Given the description of an element on the screen output the (x, y) to click on. 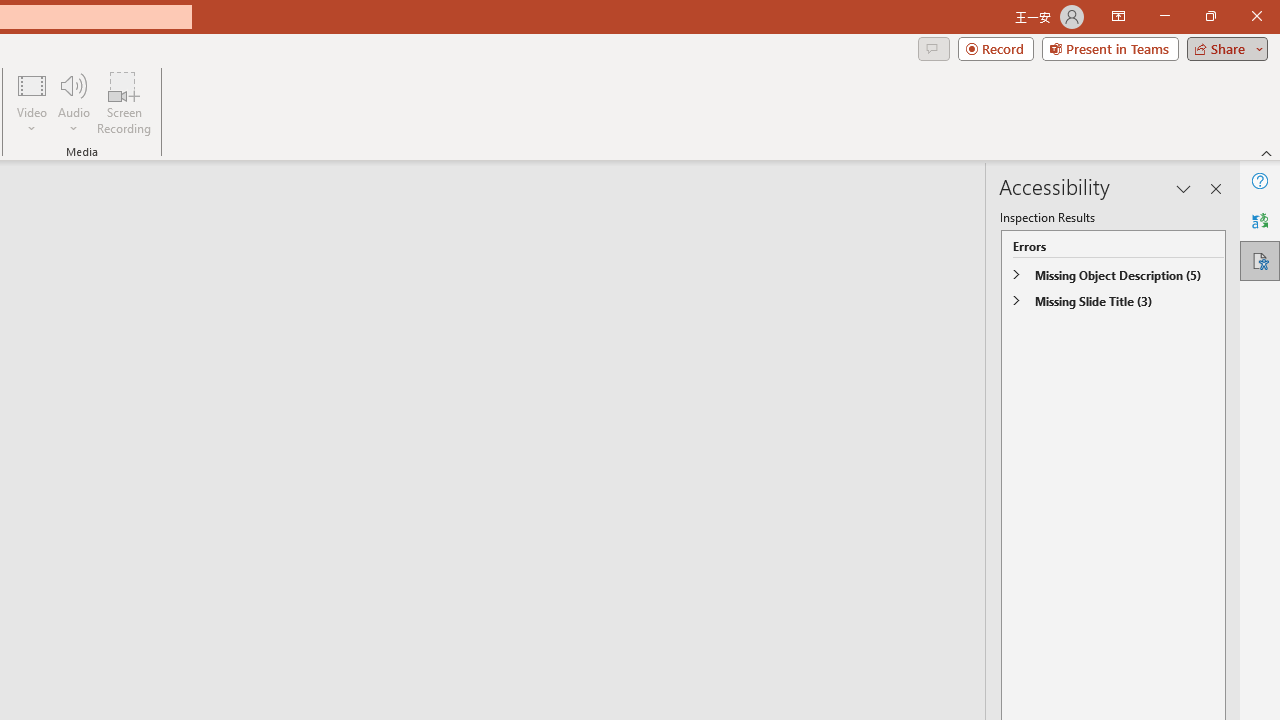
Close pane (1215, 188)
Close (1256, 16)
Present in Teams (1109, 48)
Help (1260, 180)
Video (31, 102)
Collapse the Ribbon (1267, 152)
Screen Recording... (123, 102)
Restore Down (1210, 16)
Task Pane Options (1183, 188)
Accessibility (1260, 260)
Audio (73, 102)
Minimize (1164, 16)
Ribbon Display Options (1118, 16)
Comments (933, 48)
